Given the description of an element on the screen output the (x, y) to click on. 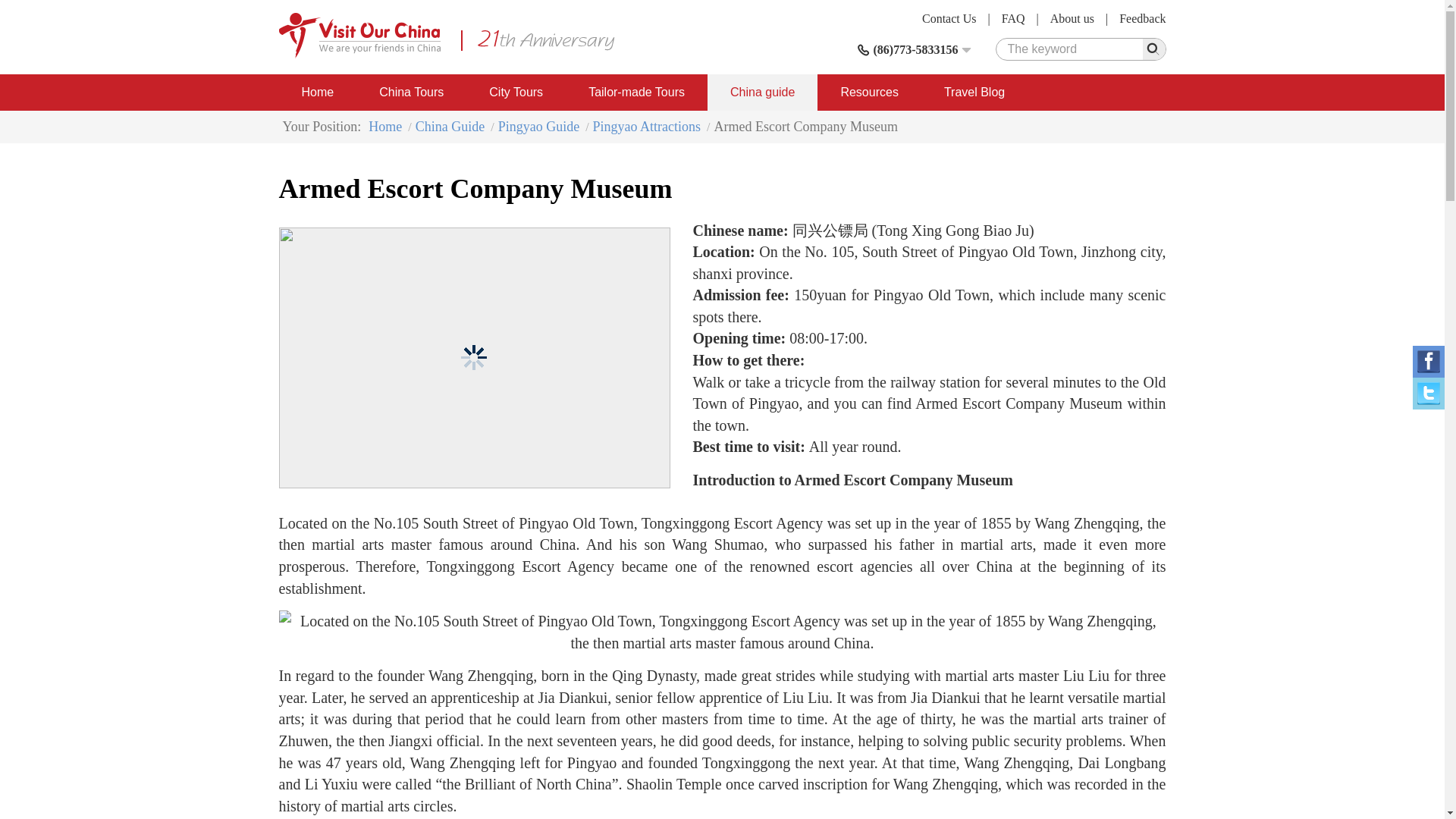
City Tours (515, 92)
Contact Us (948, 18)
China Tours (410, 92)
Tailor-made Tours (636, 92)
Feedback (1142, 18)
China guide (761, 92)
Resources (868, 92)
Home (317, 92)
About us (1071, 18)
